Given the description of an element on the screen output the (x, y) to click on. 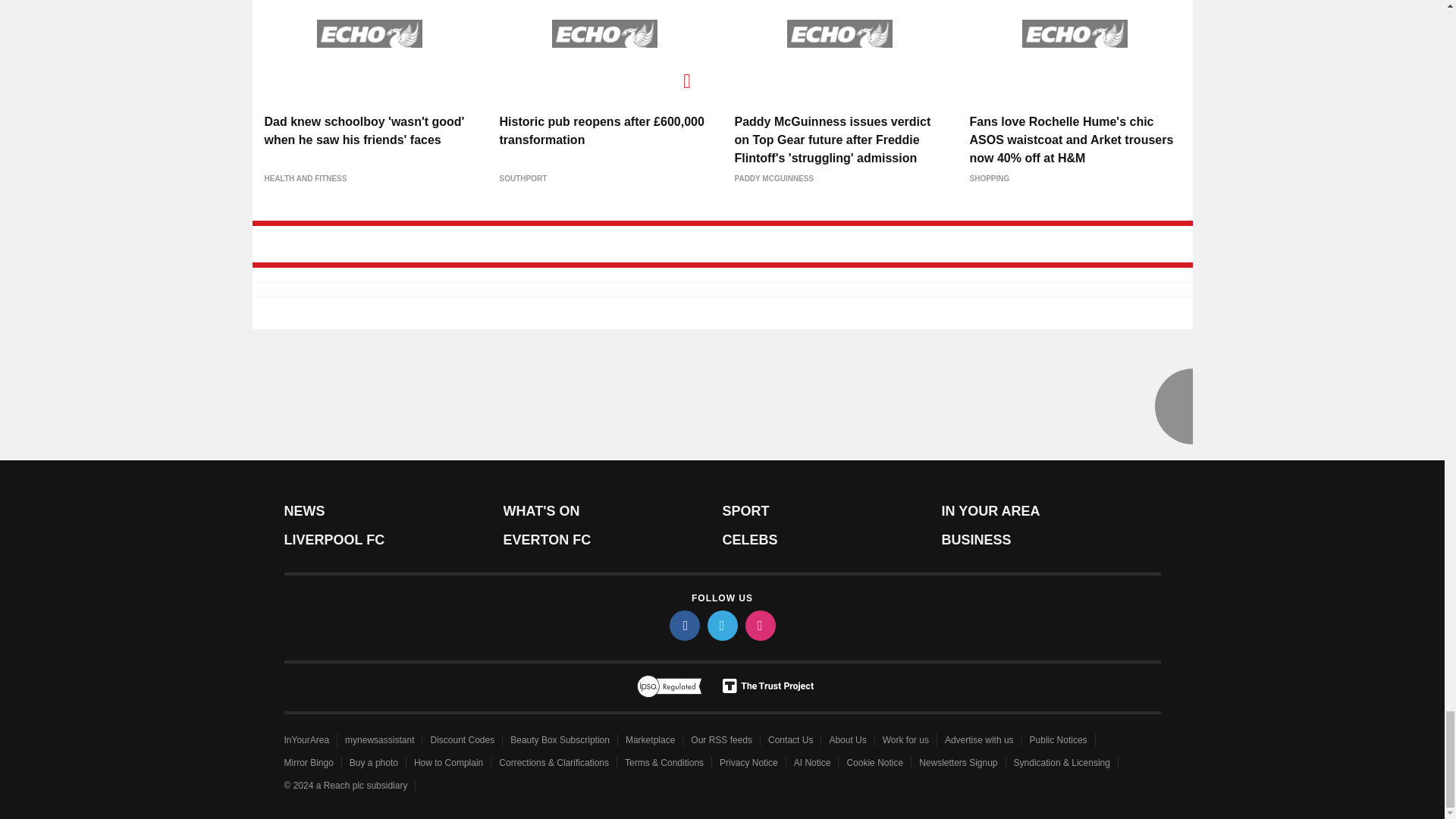
twitter (721, 625)
facebook (683, 625)
instagram (759, 625)
